Given the description of an element on the screen output the (x, y) to click on. 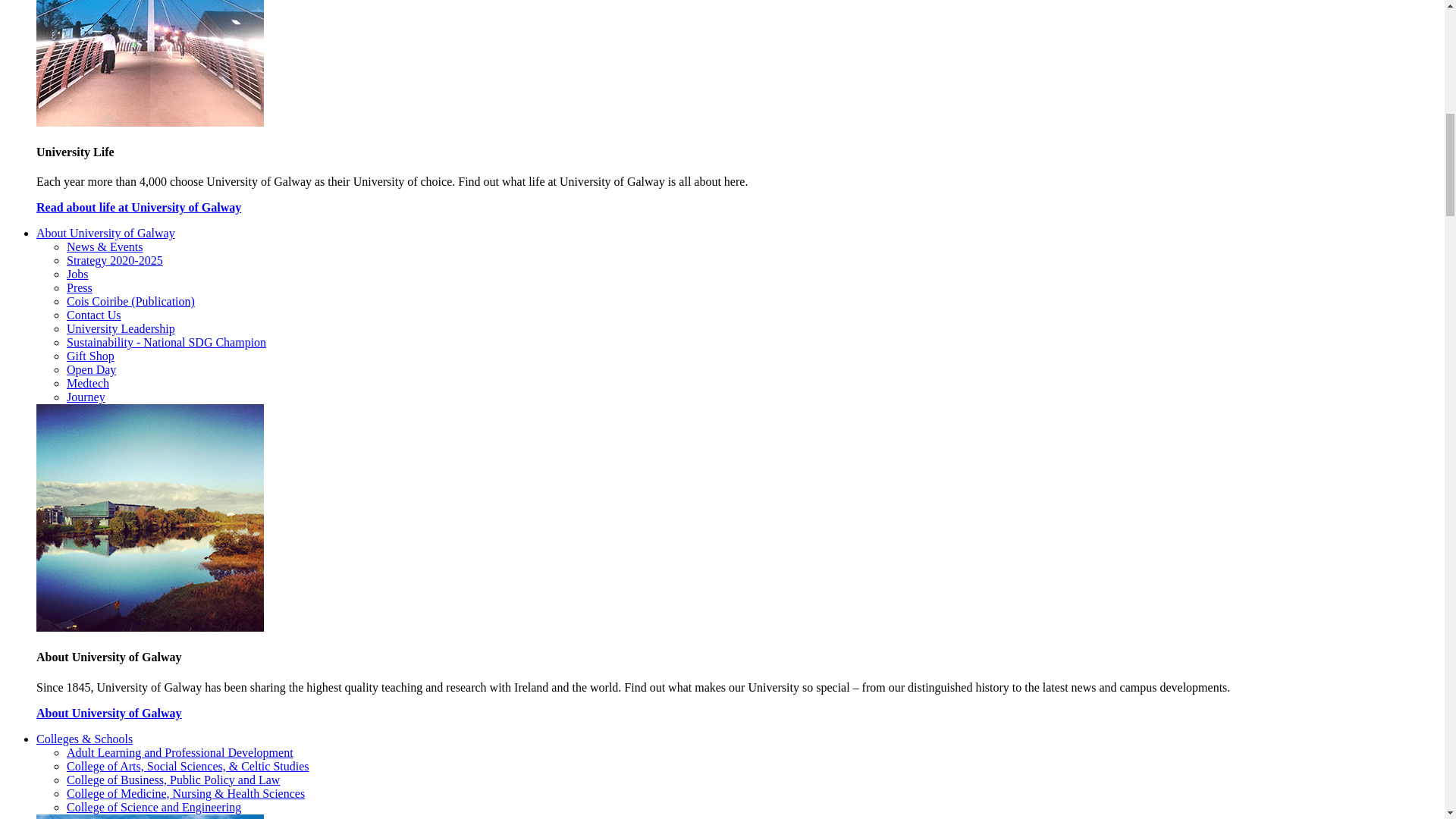
Press (79, 287)
Contact Us (93, 314)
Read about life at University of Galway (138, 206)
University Leadership (120, 328)
Strategy 2020-2025 (114, 259)
About University of Galway (105, 232)
Sustainability - National SDG Champion (166, 341)
Jobs (76, 273)
